Given the description of an element on the screen output the (x, y) to click on. 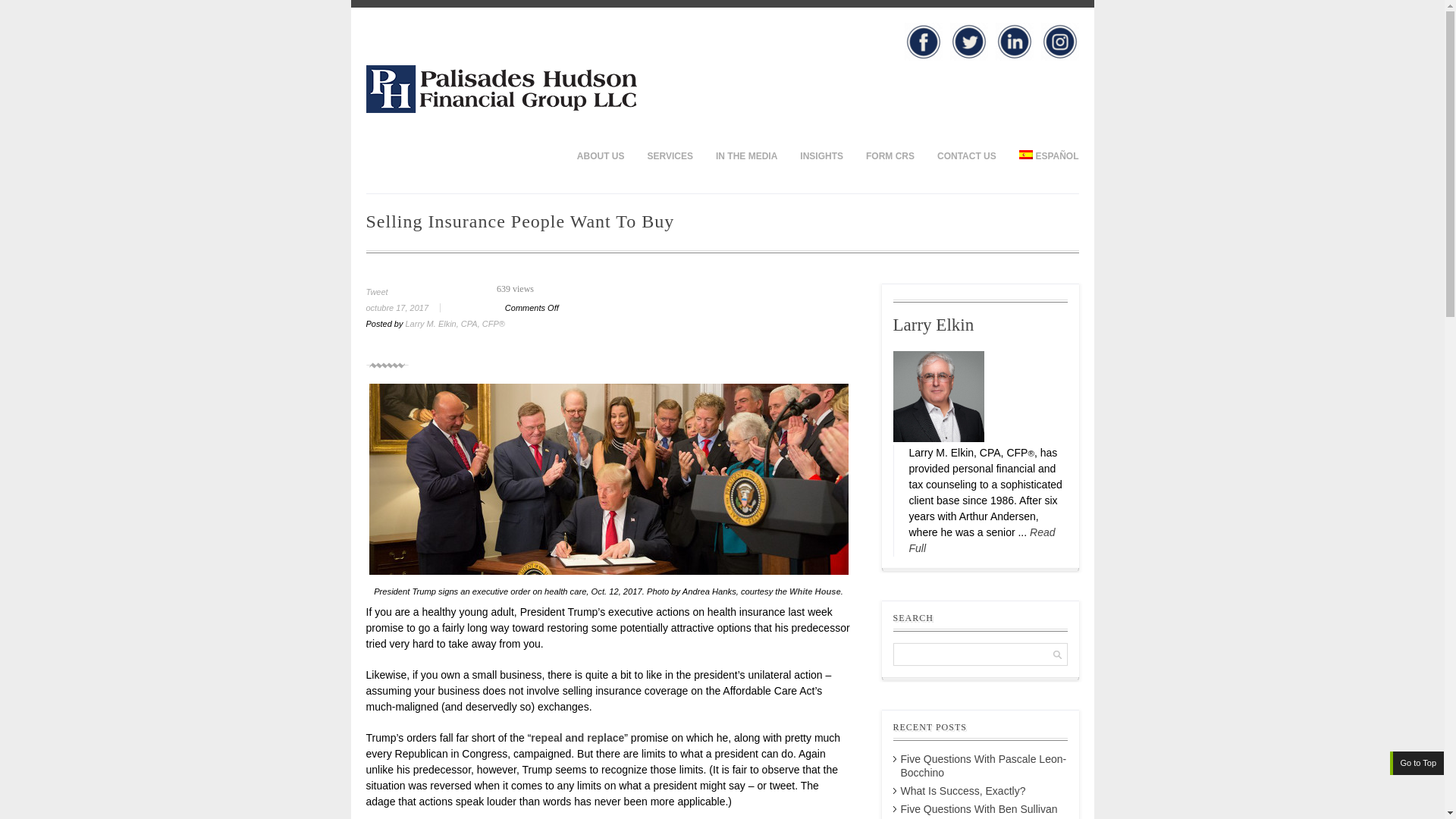
Twitter (968, 41)
Tweet (376, 291)
SERVICES (670, 155)
Facebook (923, 41)
octubre 17, 2017 (408, 307)
IN THE MEDIA (746, 155)
CONTACT US (966, 155)
Palisades Hudson Financial Group (500, 109)
INSIGHTS (821, 155)
LinkedIn (1013, 41)
